Given the description of an element on the screen output the (x, y) to click on. 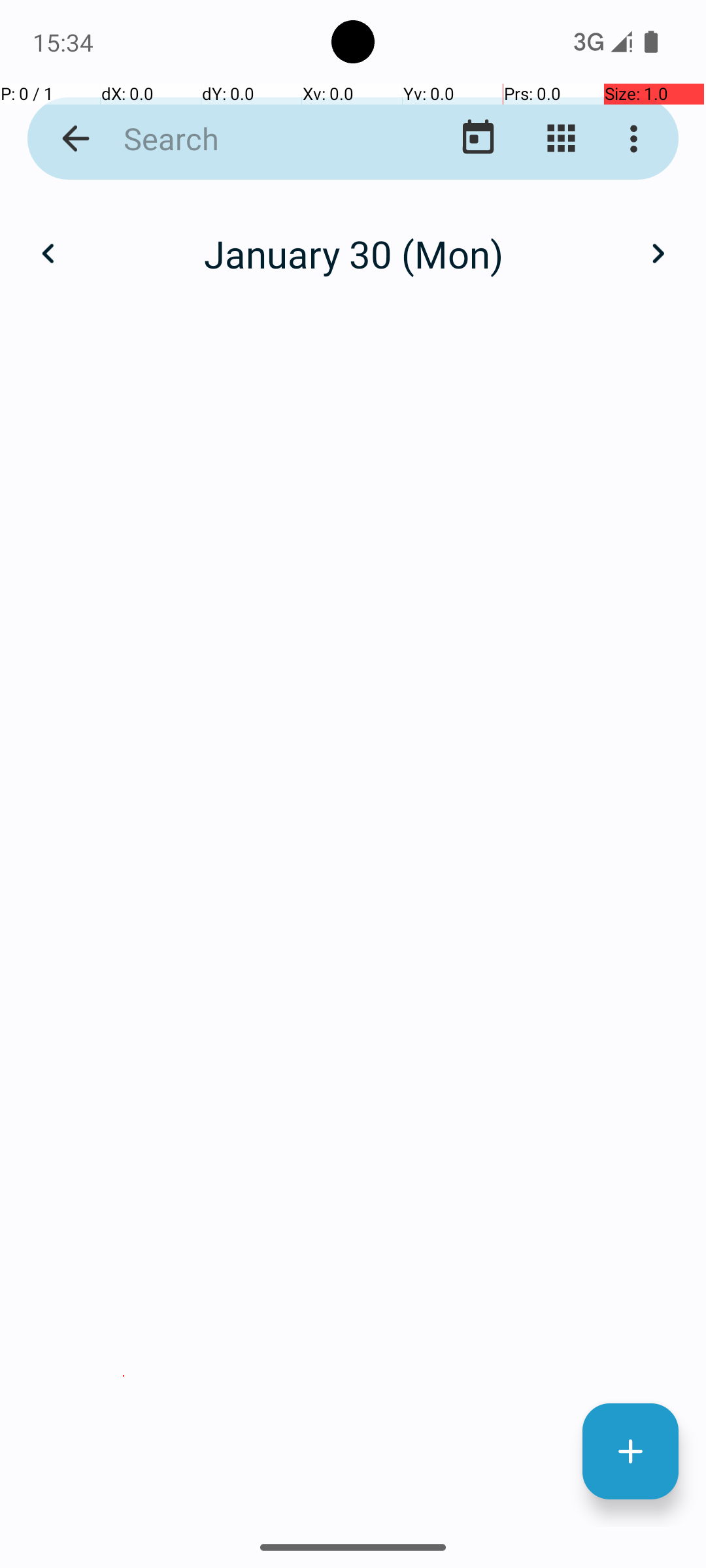
Go to today Element type: android.widget.Button (477, 138)
JANUARY Element type: android.widget.TextView (123, 319)
FEBRUARY Element type: android.widget.TextView (352, 319)
MARCH Element type: android.widget.TextView (582, 319)
APRIL Element type: android.widget.TextView (123, 621)
MAY Element type: android.widget.TextView (352, 621)
JUNE Element type: android.widget.TextView (582, 621)
JULY Element type: android.widget.TextView (123, 923)
AUGUST Element type: android.widget.TextView (352, 923)
SEPTEMBER Element type: android.widget.TextView (582, 923)
OCTOBER Element type: android.widget.TextView (123, 1224)
NOVEMBER Element type: android.widget.TextView (352, 1224)
DECEMBER Element type: android.widget.TextView (582, 1224)
January Element type: android.widget.TextView (352, 239)
January 30 (Mon) Element type: android.widget.TextView (352, 253)
